Given the description of an element on the screen output the (x, y) to click on. 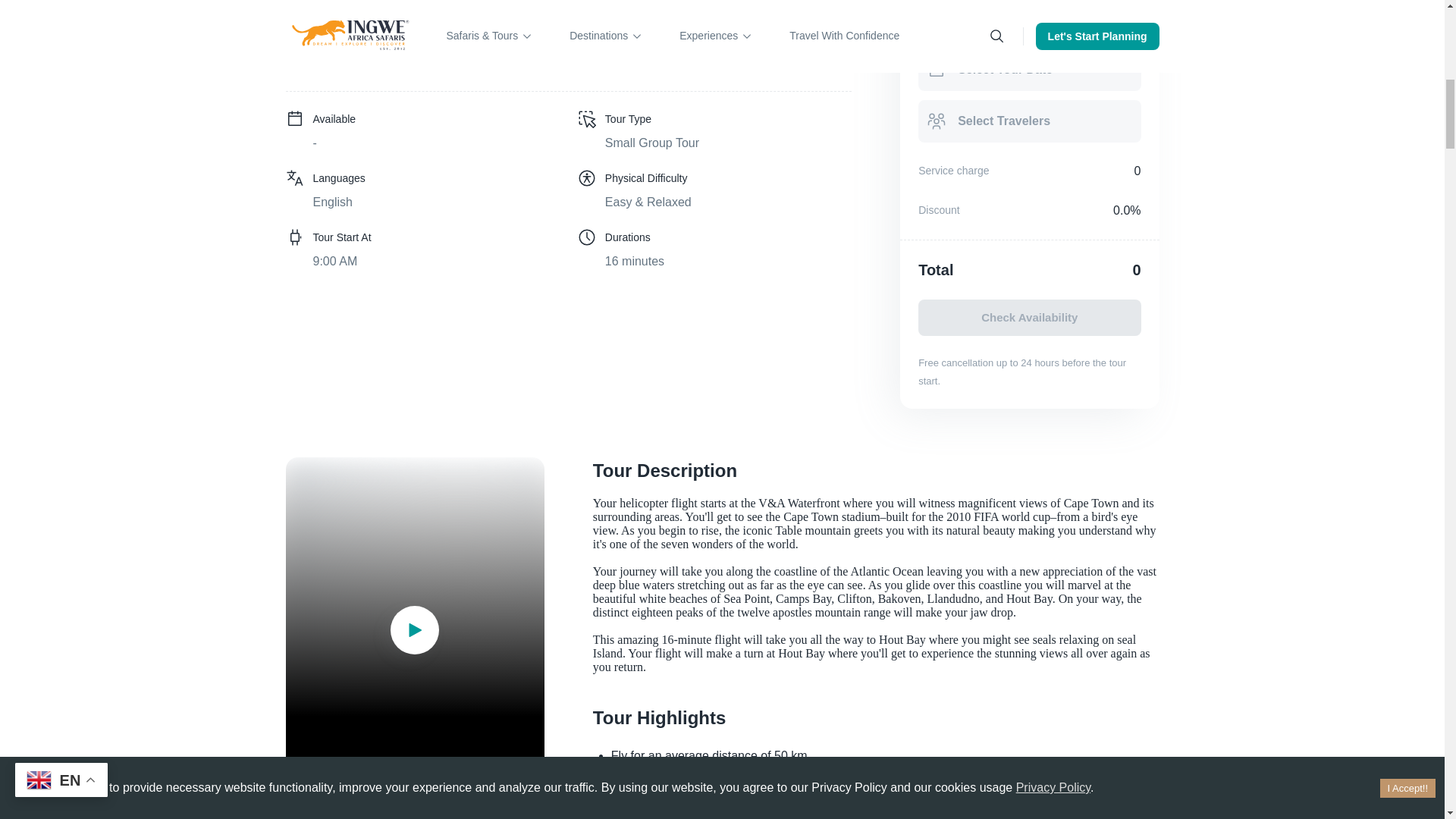
Check Availability (1029, 317)
